Given the description of an element on the screen output the (x, y) to click on. 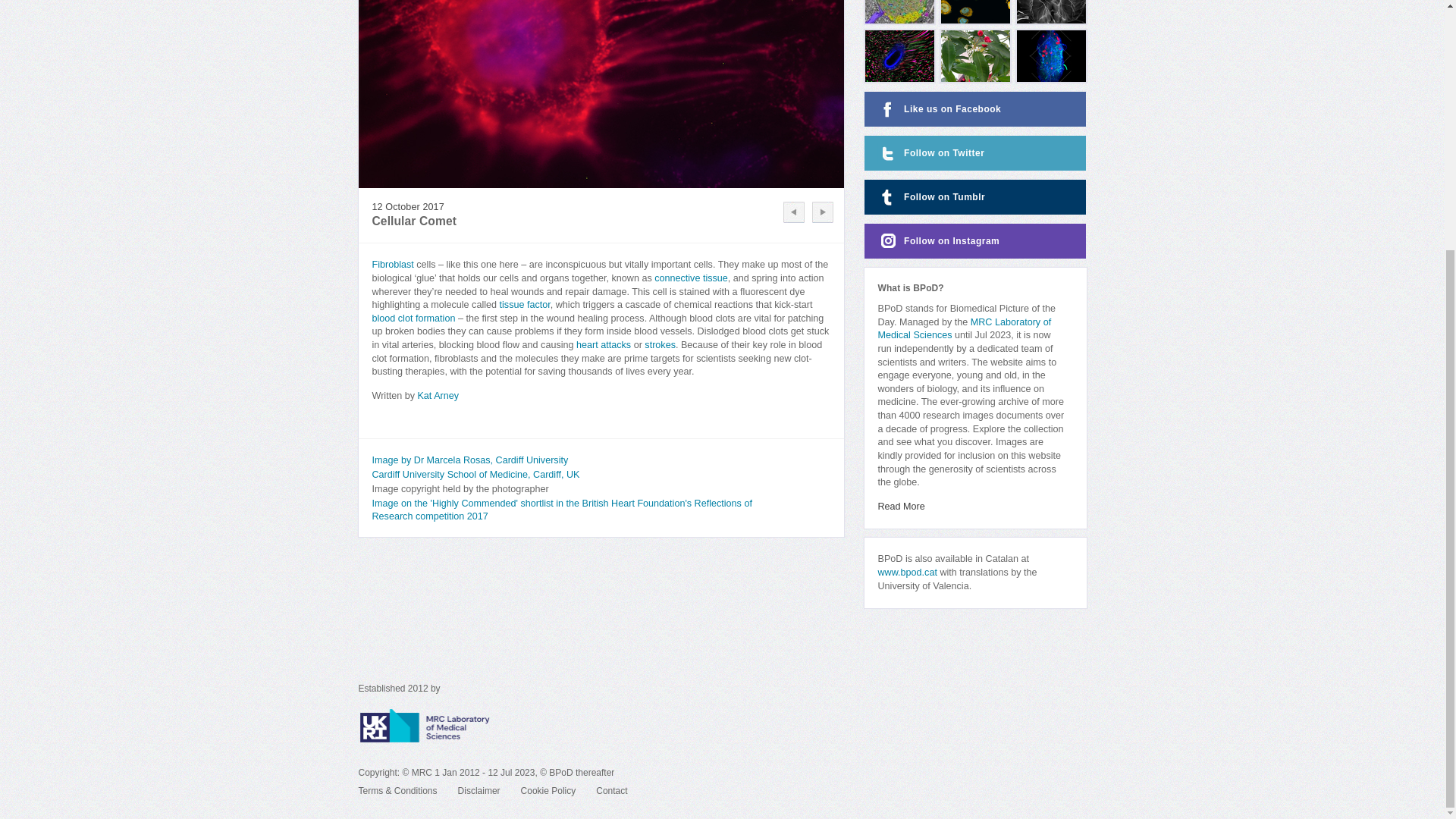
heart attacks (603, 344)
tissue factor (524, 304)
Like us on Facebook (975, 108)
Follow on Tumblr (975, 196)
Cardiff University School of Medicine, Cardiff, UK (475, 474)
strokes (660, 344)
Fibroblast (392, 264)
Follow on Twitter (975, 152)
